Given the description of an element on the screen output the (x, y) to click on. 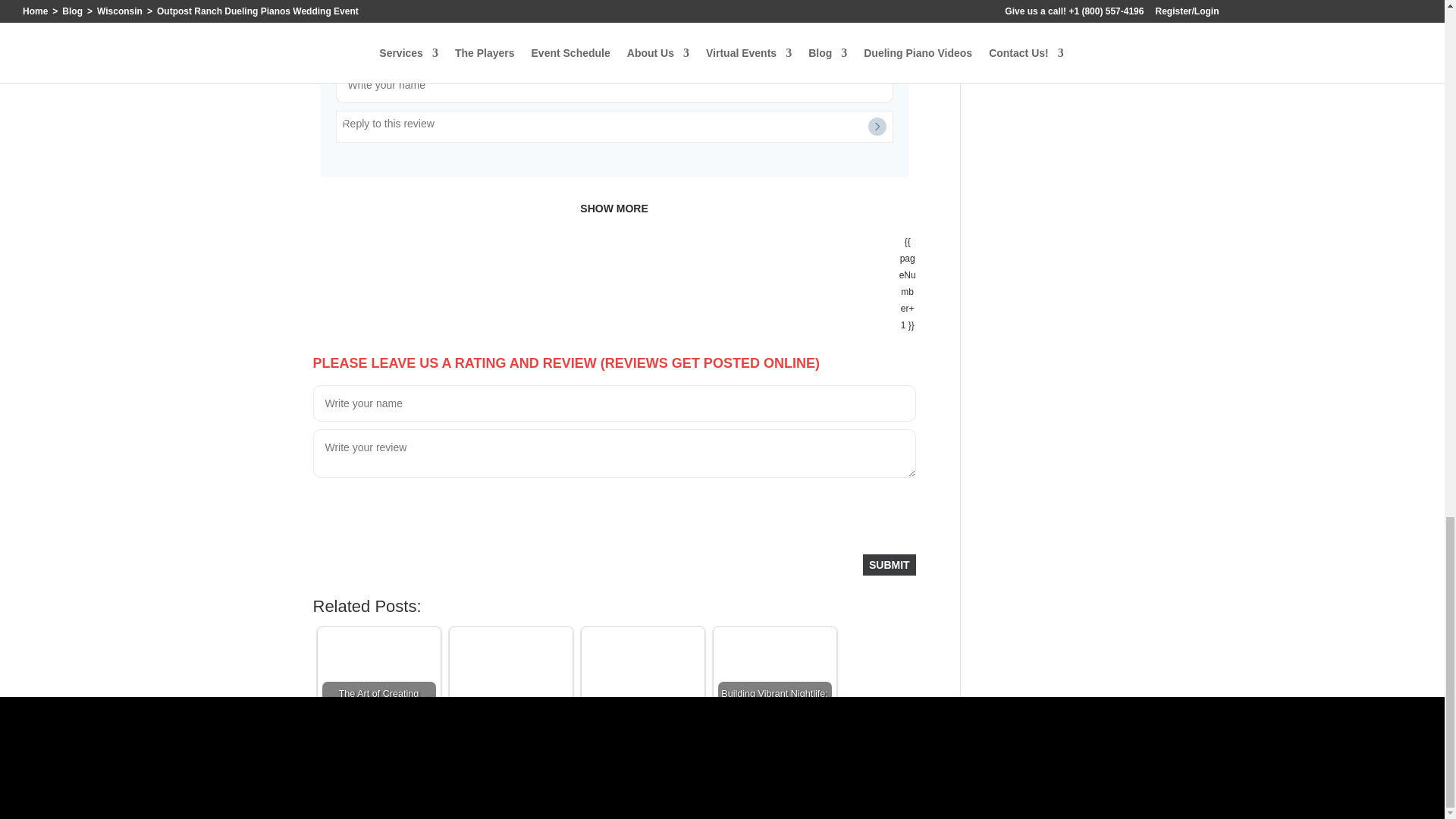
Unlocking the Magic of Maison Albion (509, 688)
Submit (889, 564)
Twinning in Wedding Planning (641, 688)
